Given the description of an element on the screen output the (x, y) to click on. 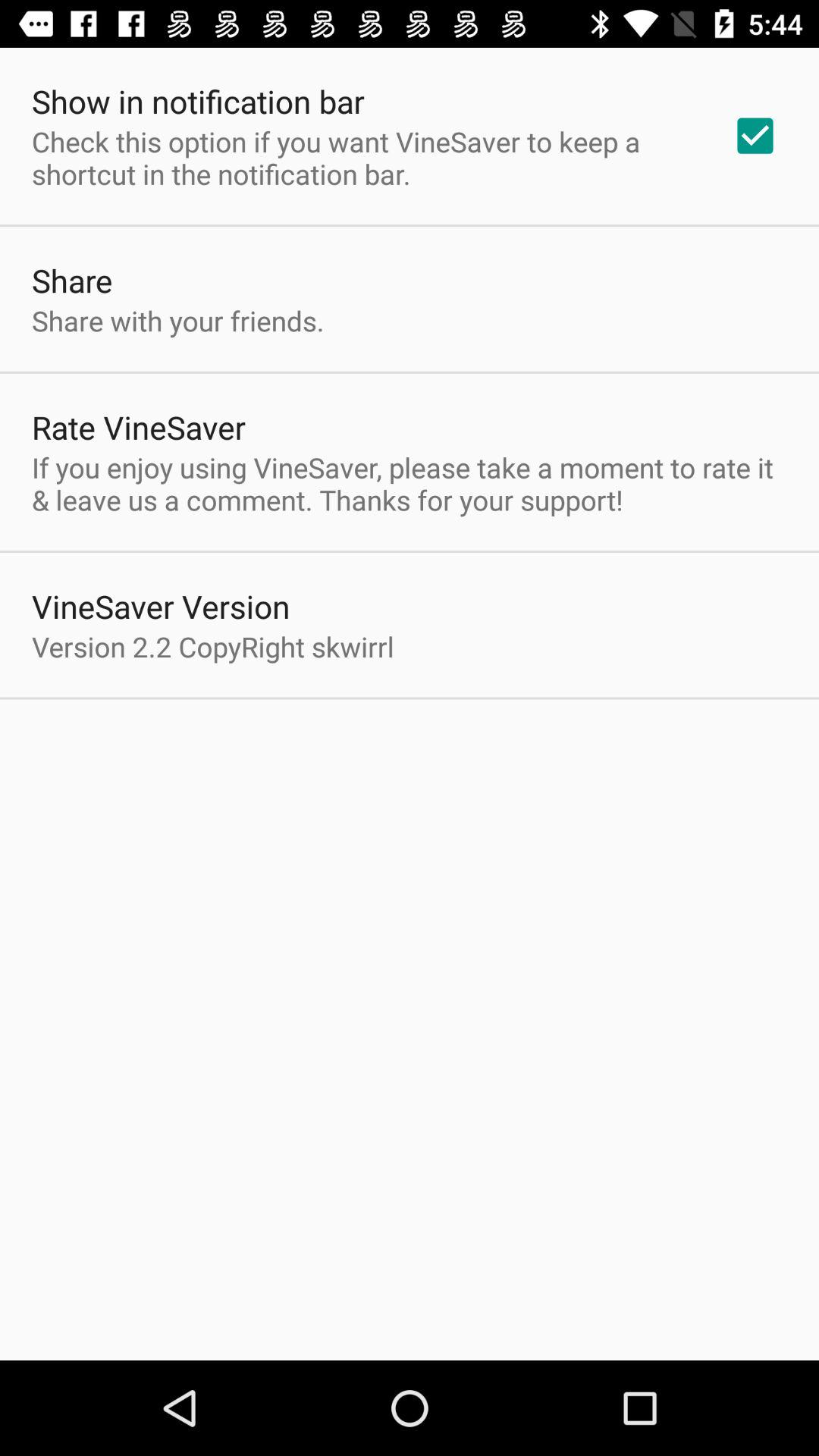
choose the share with your item (177, 320)
